Given the description of an element on the screen output the (x, y) to click on. 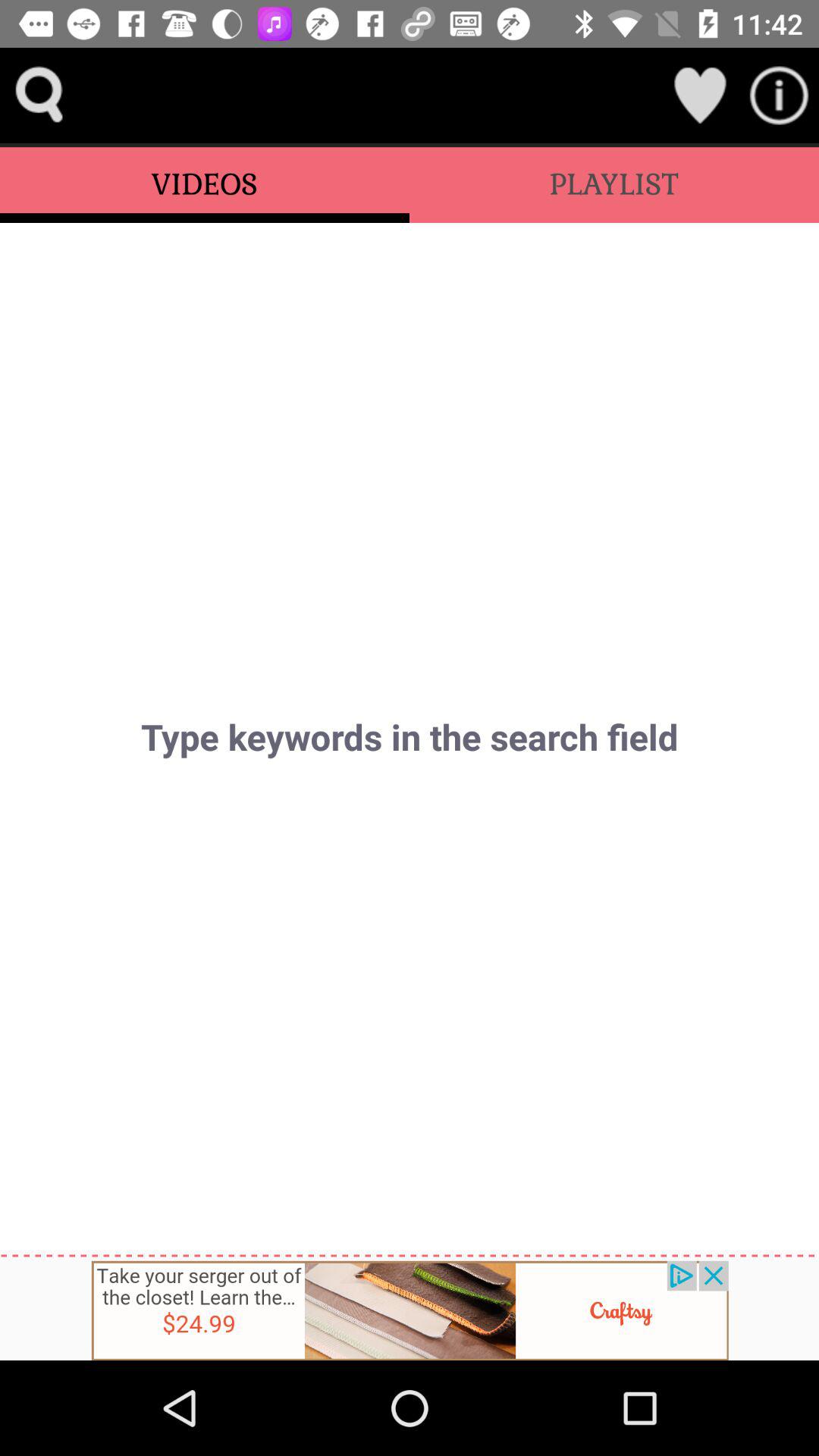
search (39, 95)
